Given the description of an element on the screen output the (x, y) to click on. 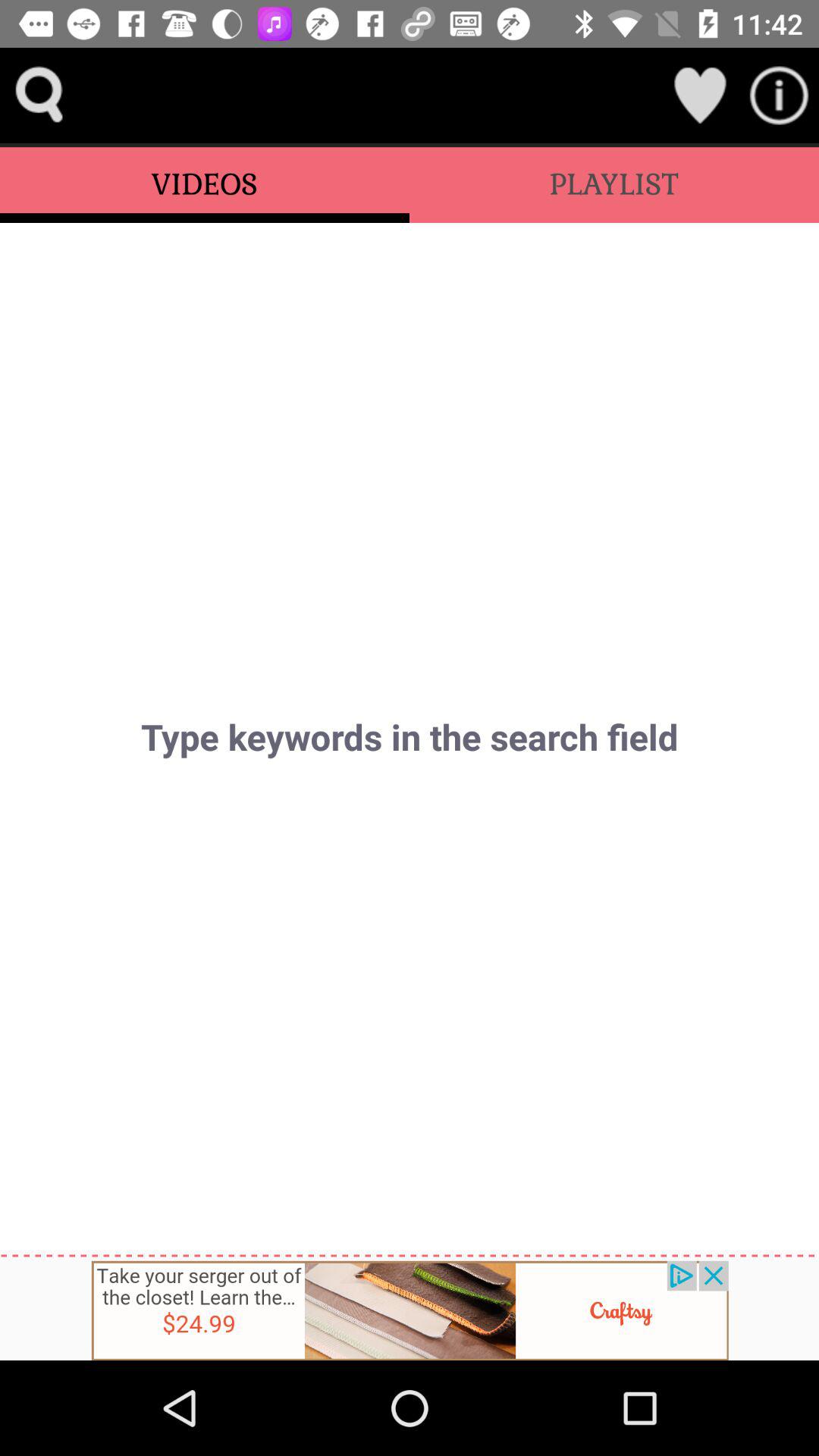
search (39, 95)
